Given the description of an element on the screen output the (x, y) to click on. 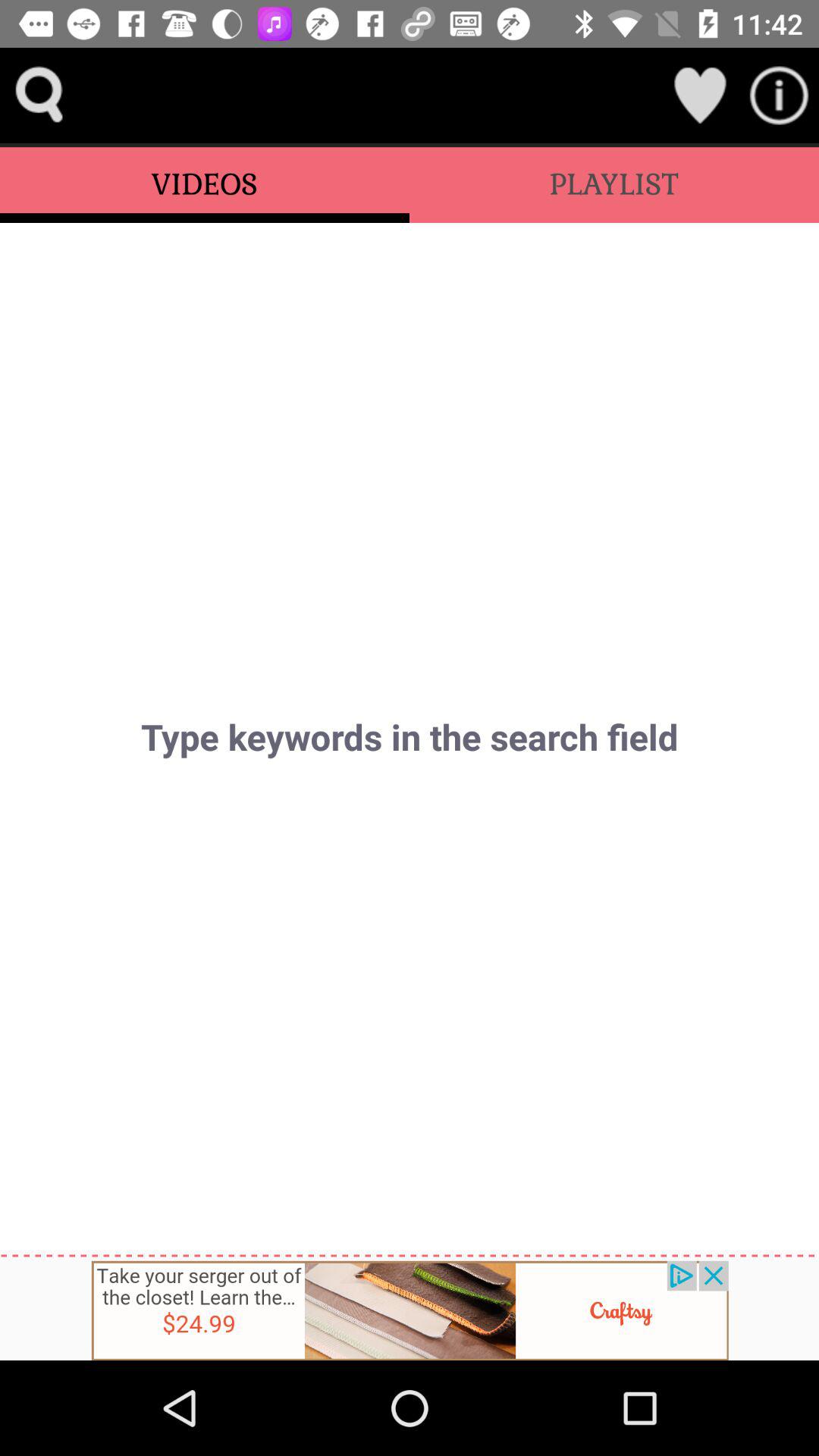
search (39, 95)
